Given the description of an element on the screen output the (x, y) to click on. 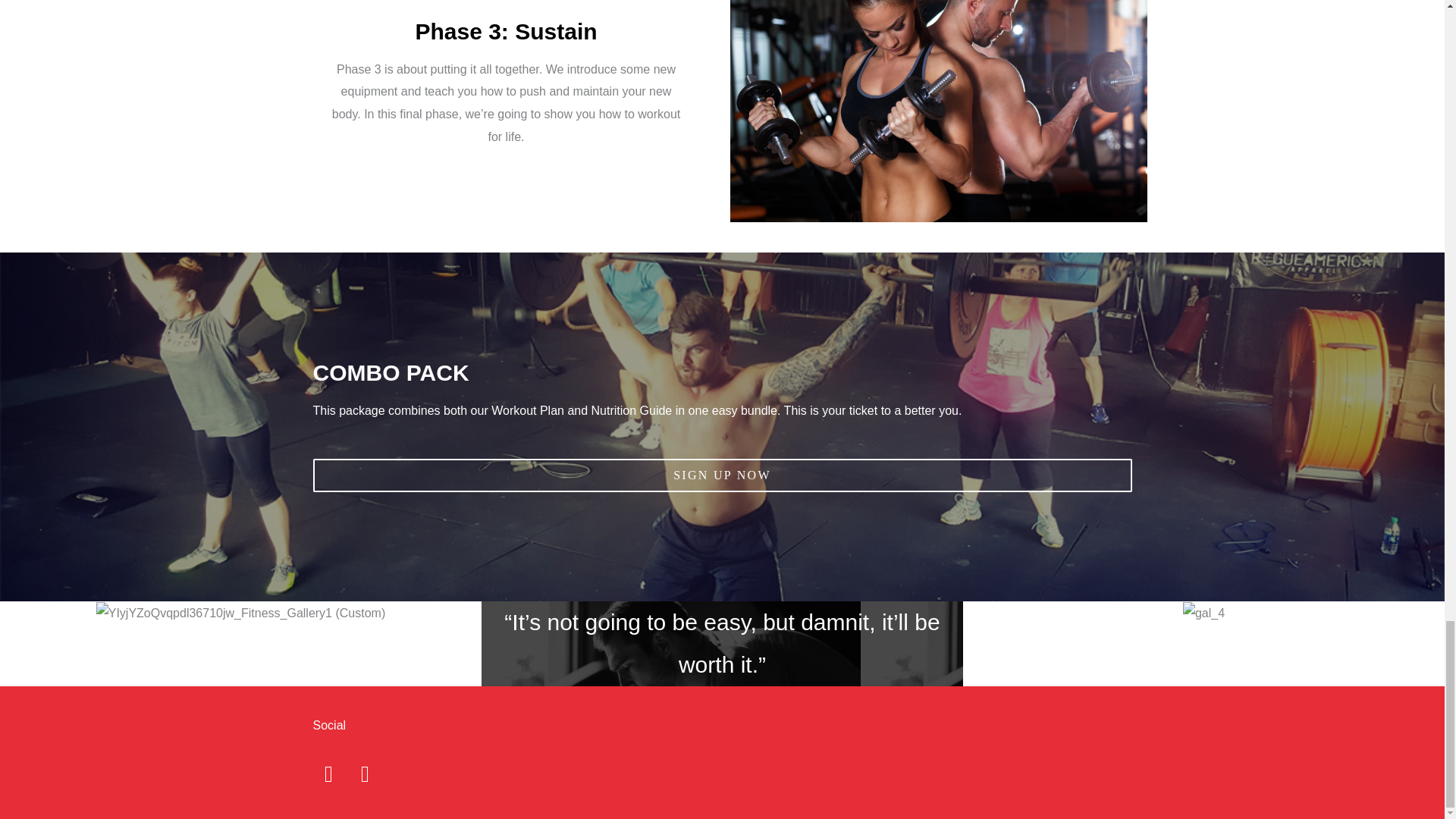
Instagram (364, 774)
SIGN UP NOW (722, 475)
Facebook (328, 774)
